Given the description of an element on the screen output the (x, y) to click on. 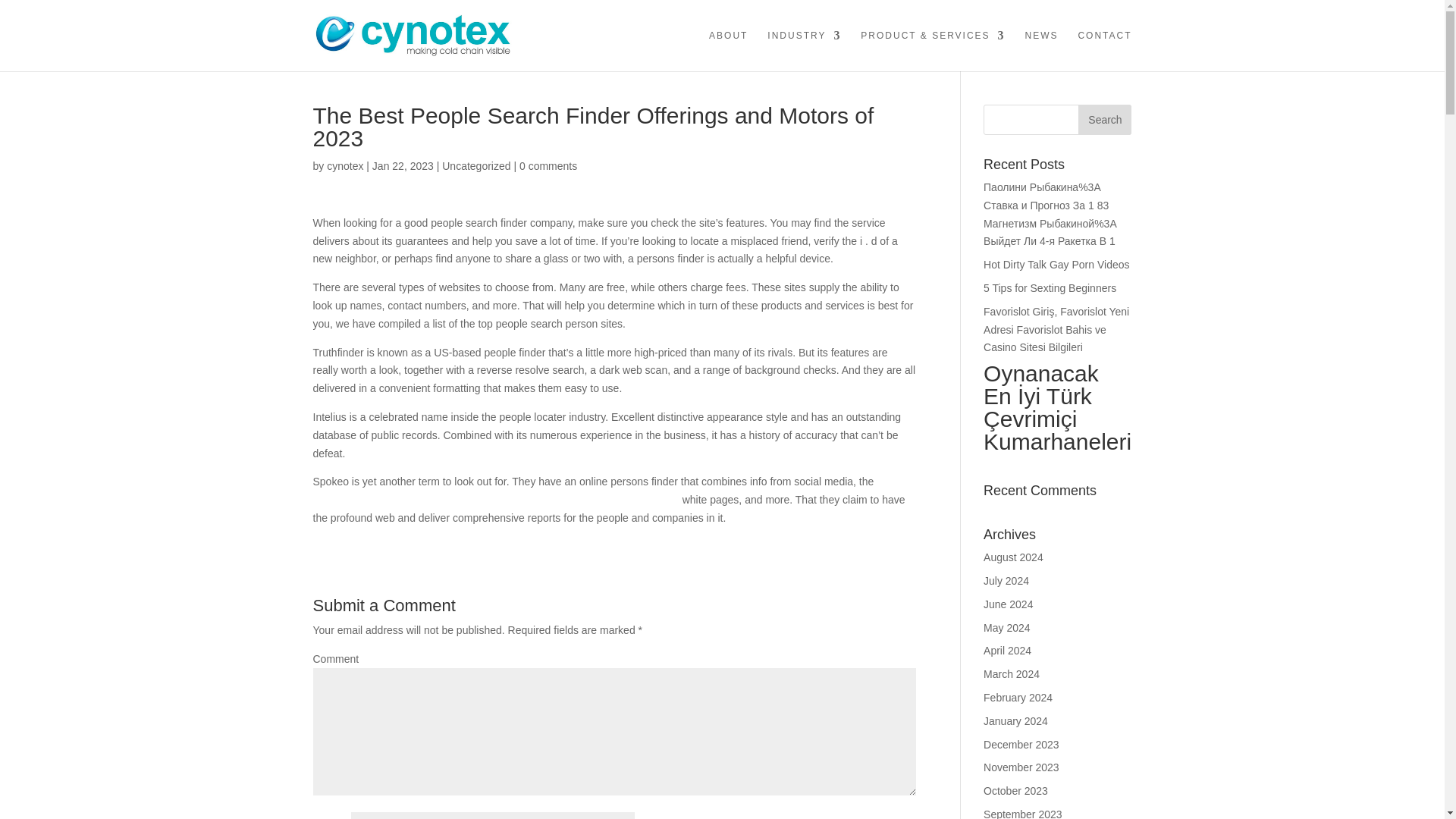
Search (1104, 119)
Uncategorized (476, 165)
ABOUT (728, 50)
Posts by cynotex (344, 165)
cynotex (344, 165)
INDUSTRY (804, 50)
0 comments (547, 165)
Hot Dirty Talk Gay Porn Videos (1056, 264)
Search (1104, 119)
August 2024 (1013, 557)
